Given the description of an element on the screen output the (x, y) to click on. 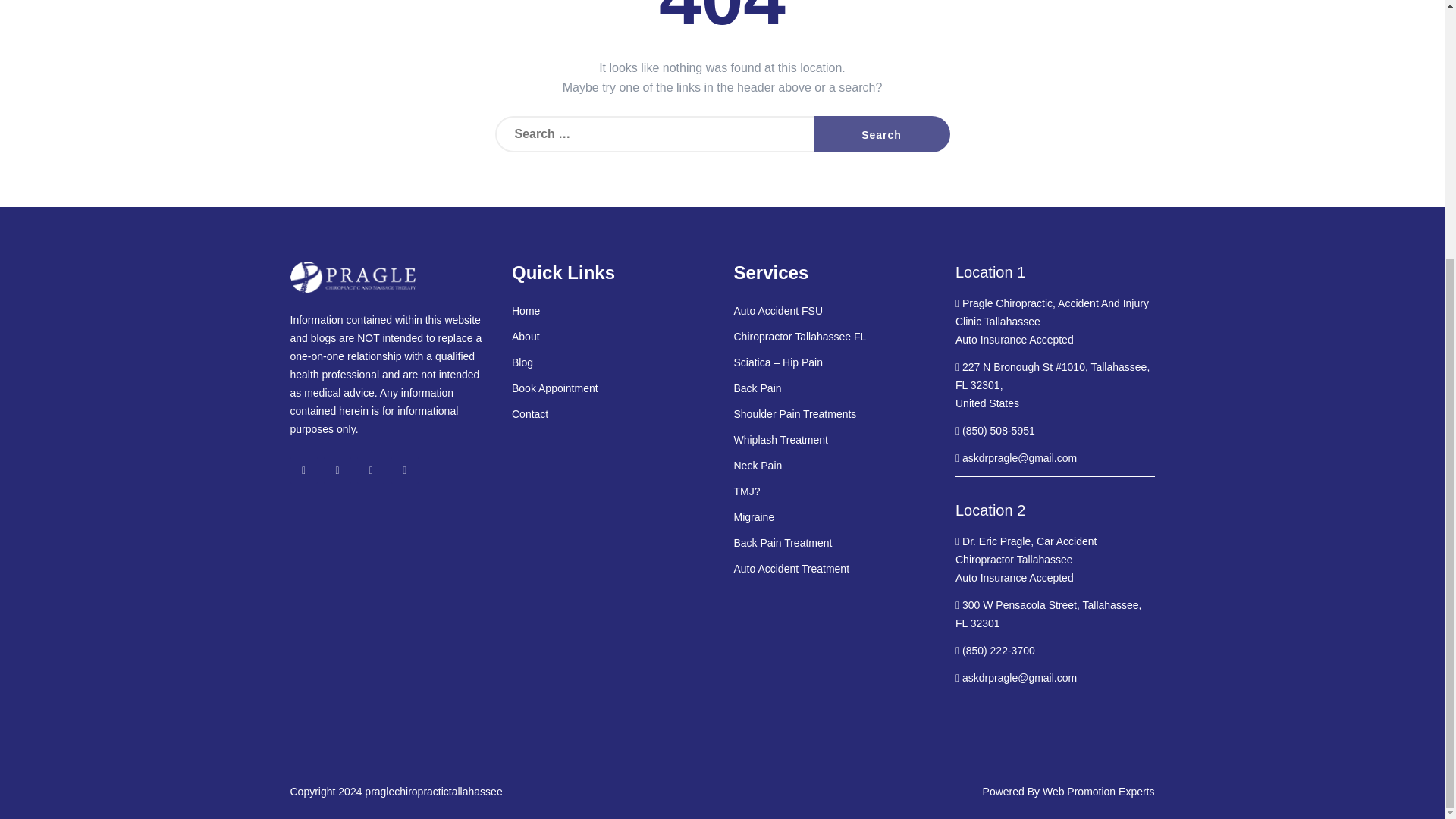
Search (880, 134)
Search (880, 134)
